Given the description of an element on the screen output the (x, y) to click on. 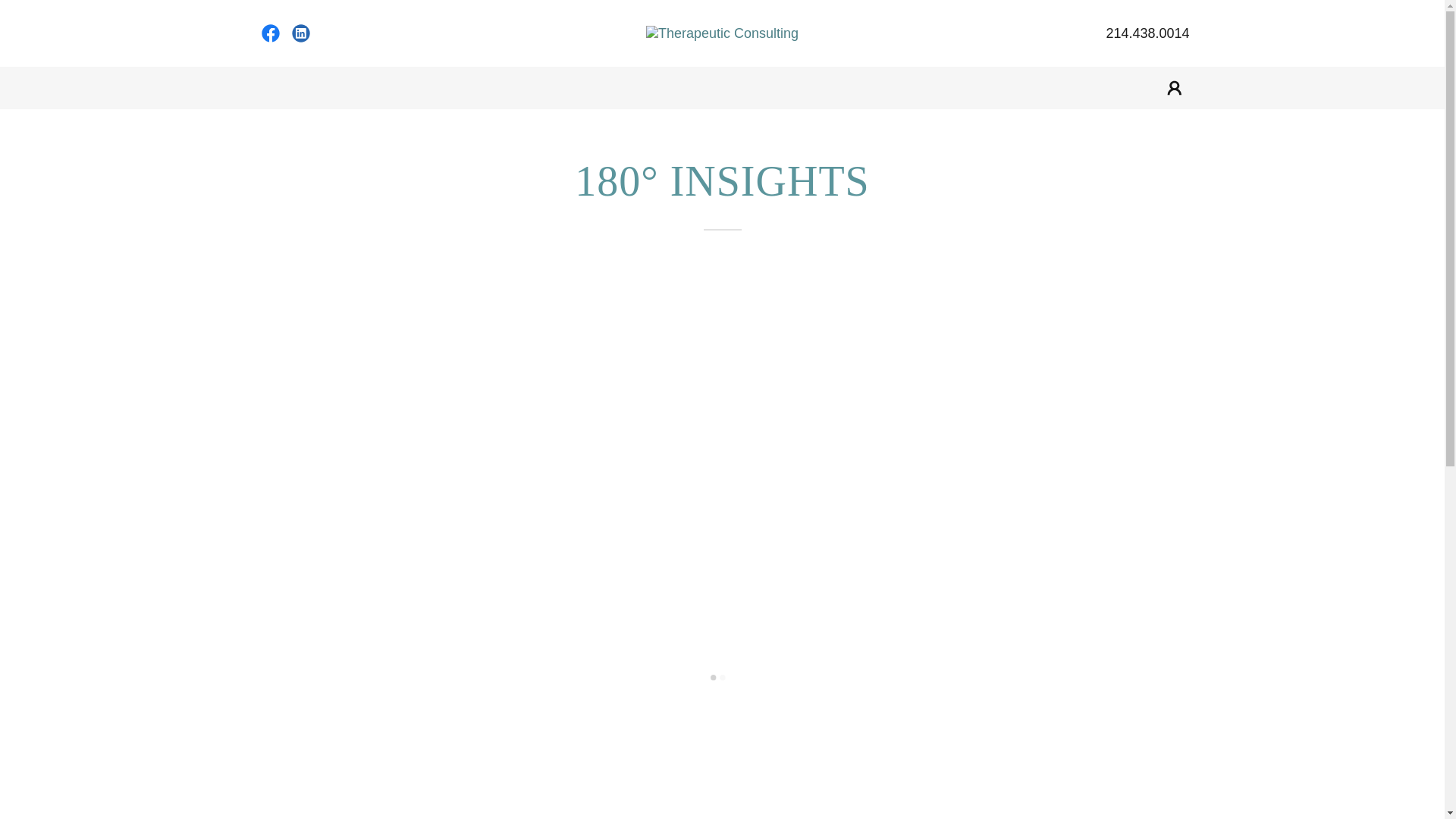
214.438.0014 Element type: text (1147, 32)
Therapeutic Consulting Element type: hover (722, 32)
